Given the description of an element on the screen output the (x, y) to click on. 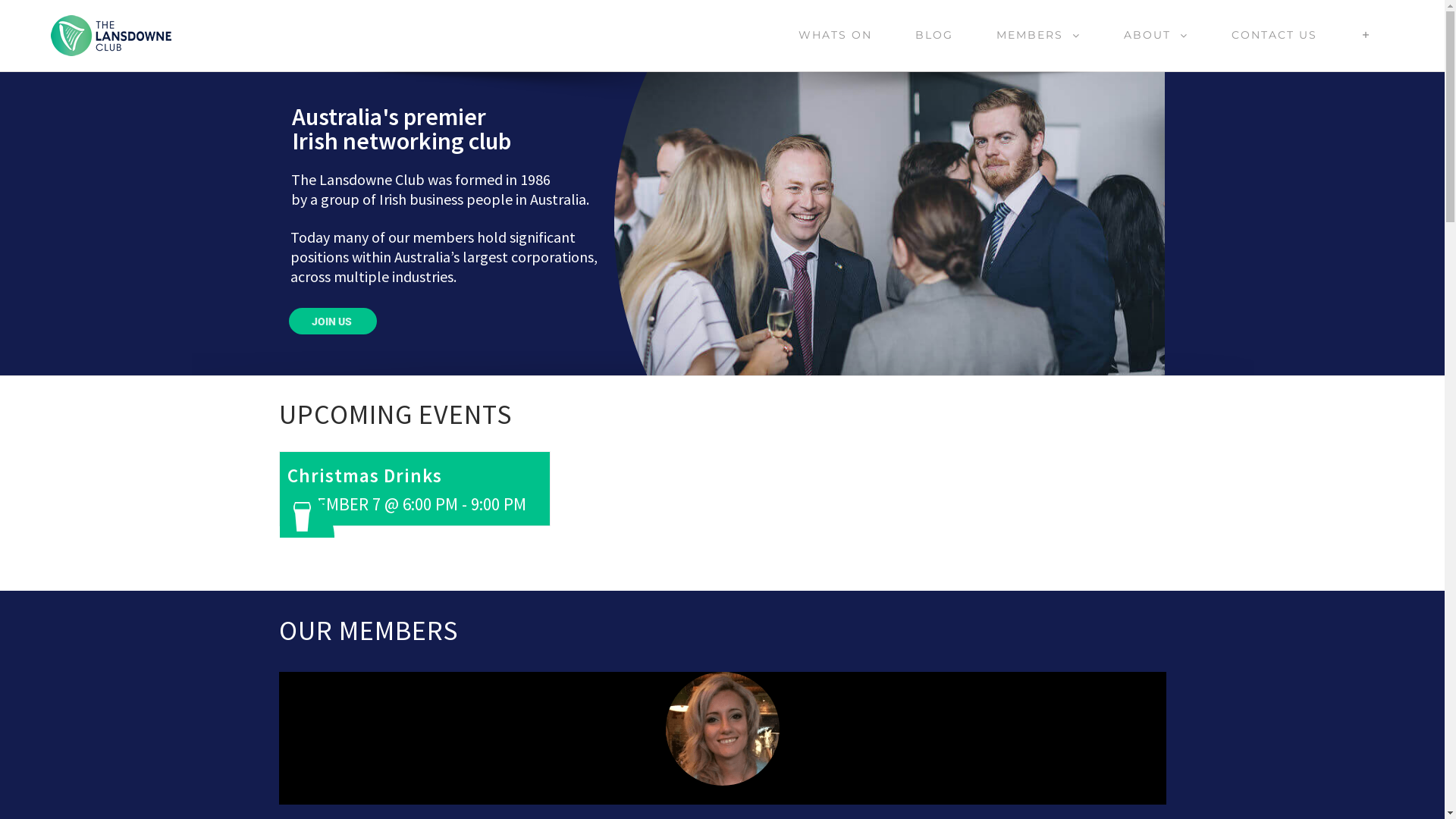
CONTACT US Element type: text (1273, 34)
ABOUT Element type: text (1155, 34)
Christmas Drinks Element type: text (363, 475)
WHATS ON Element type: text (834, 34)
MEMBERS Element type: text (1037, 34)
Toggle Sliding Bar Element type: hover (1365, 34)
JOIN US Element type: text (332, 320)
BLOG Element type: text (933, 34)
